Given the description of an element on the screen output the (x, y) to click on. 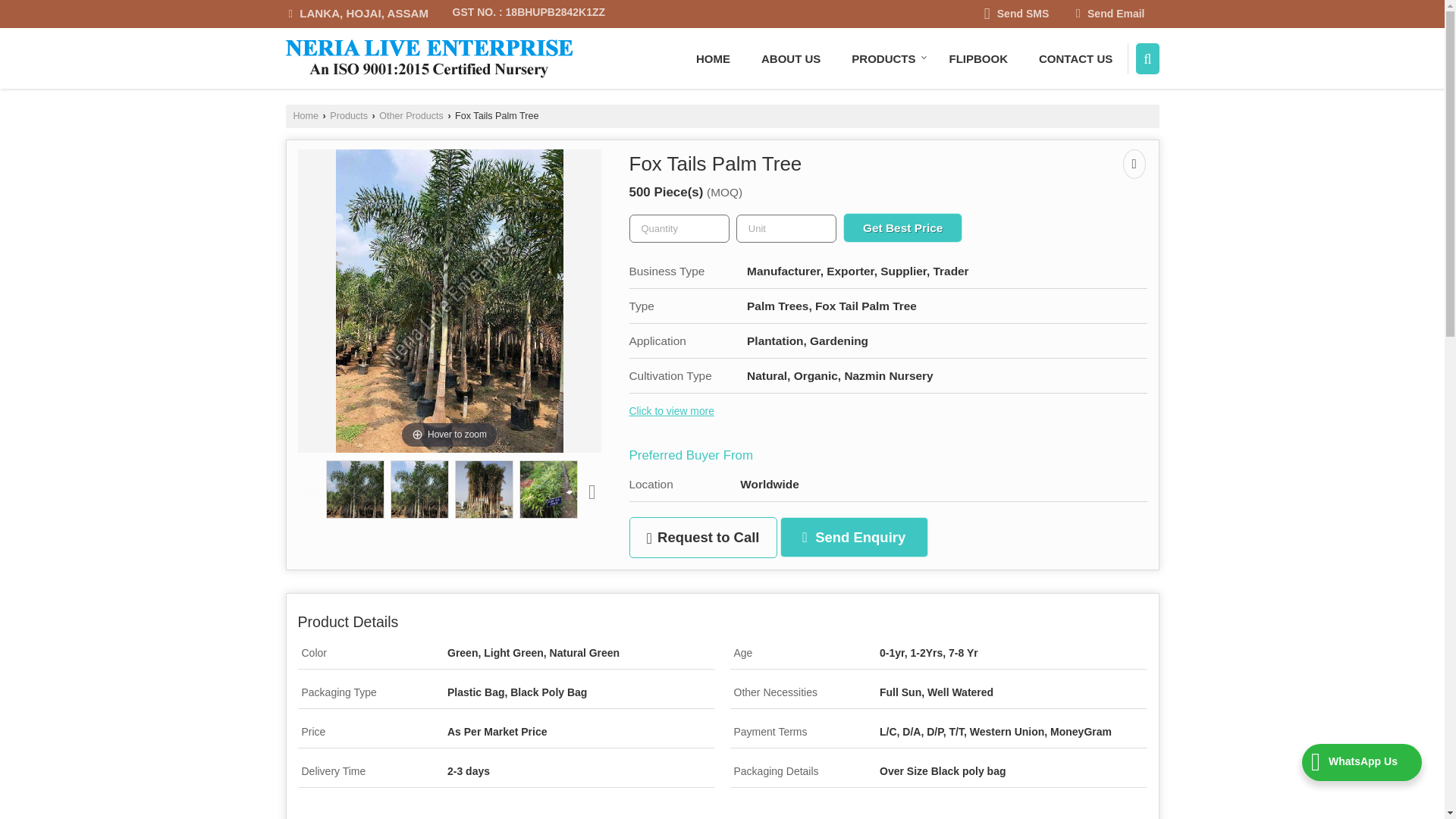
CONTACT US (1074, 57)
About Us (790, 57)
Products (349, 115)
Products (884, 57)
NERIA LIVE ENTERPRISE (428, 58)
Send SMS (1015, 14)
NERIA LIVE ENTERPRISE (428, 58)
HOME (713, 57)
ABOUT US (790, 57)
Send Email (1110, 14)
